Given the description of an element on the screen output the (x, y) to click on. 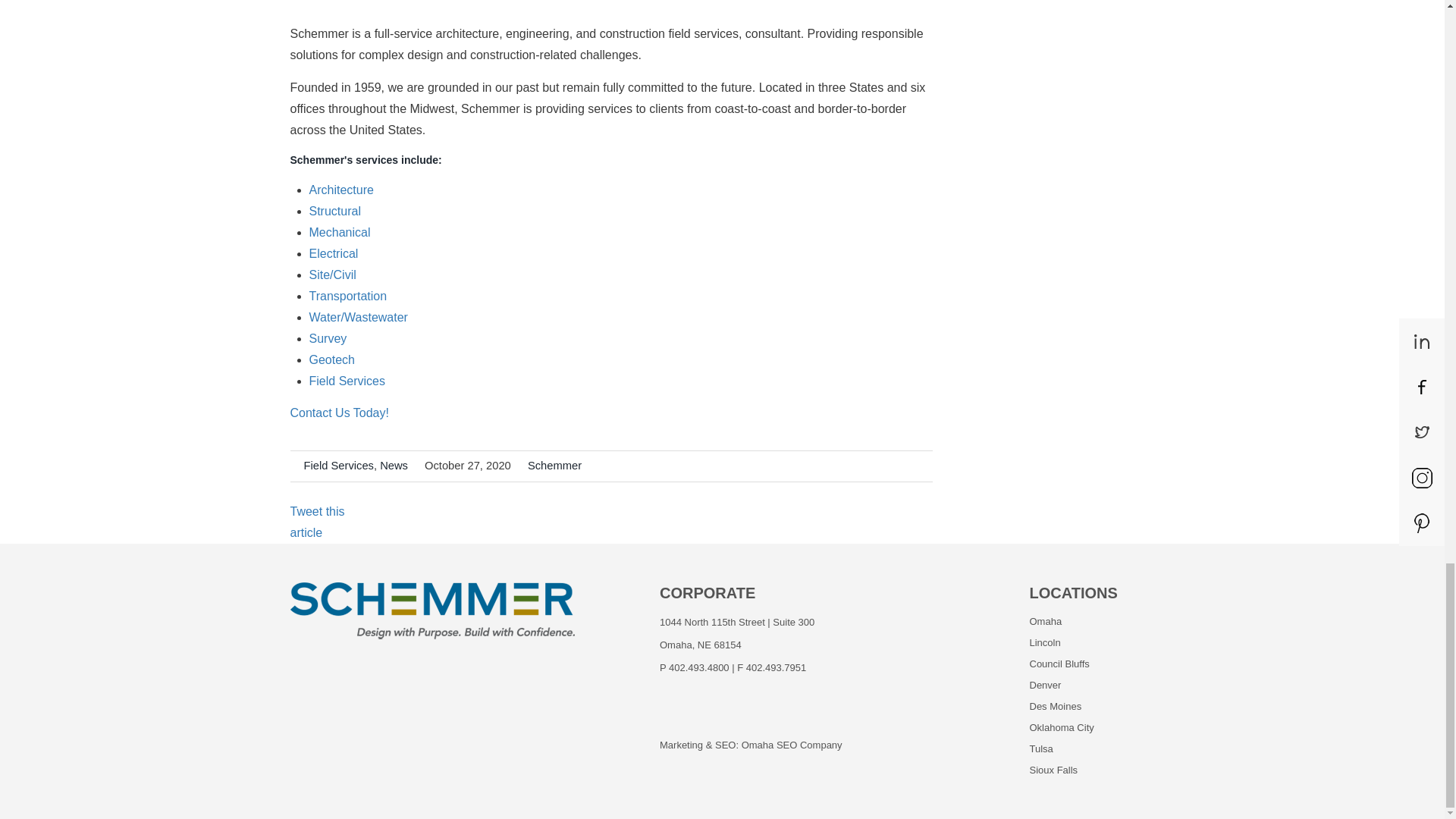
Posts by Schemmer (553, 465)
